Given the description of an element on the screen output the (x, y) to click on. 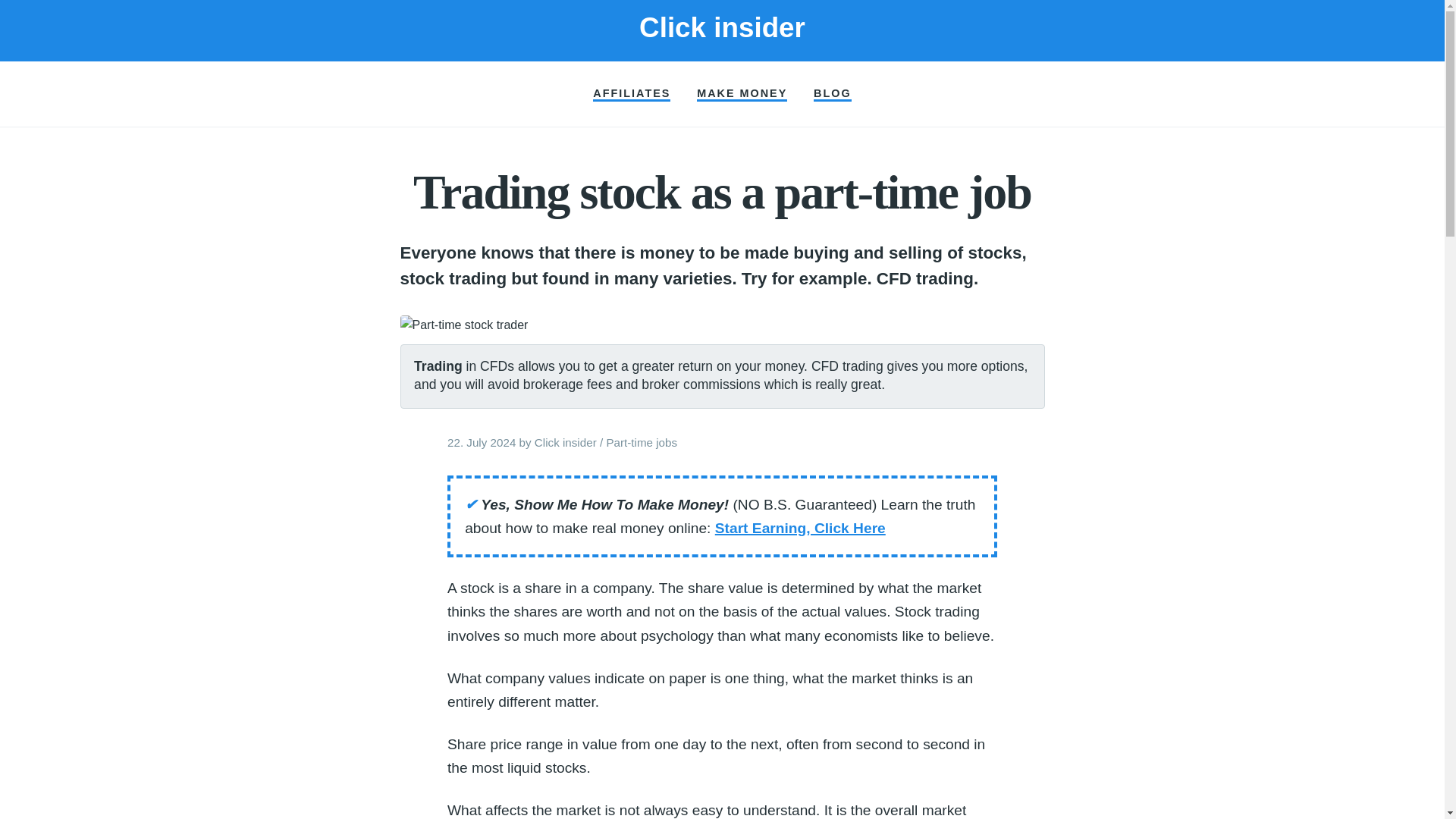
MAKE MONEY (742, 93)
Start Earning, Click Here (799, 528)
Click insider (722, 27)
Click insider (565, 441)
AFFILIATES (630, 93)
Part-time jobs (641, 441)
BLOG (832, 93)
